Given the description of an element on the screen output the (x, y) to click on. 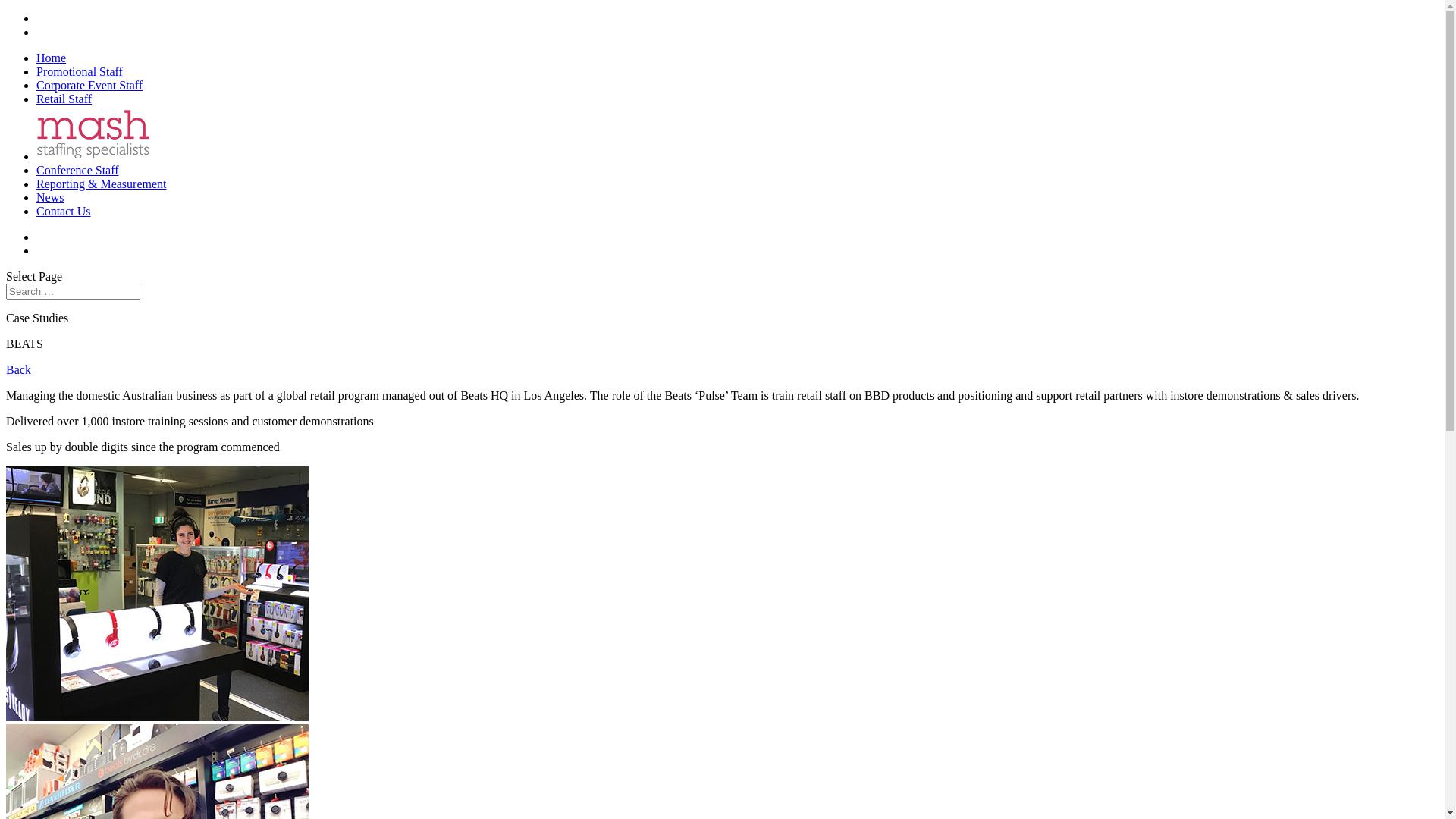
Promotional Staff Element type: text (79, 71)
Contact Us Element type: text (63, 210)
Reporting & Measurement Element type: text (101, 183)
Back Element type: text (18, 369)
Conference Staff Element type: text (77, 169)
Home Element type: text (50, 57)
Search for: Element type: hover (73, 291)
Corporate Event Staff Element type: text (89, 84)
News Element type: text (49, 197)
Retail Staff Element type: text (63, 98)
